Given the description of an element on the screen output the (x, y) to click on. 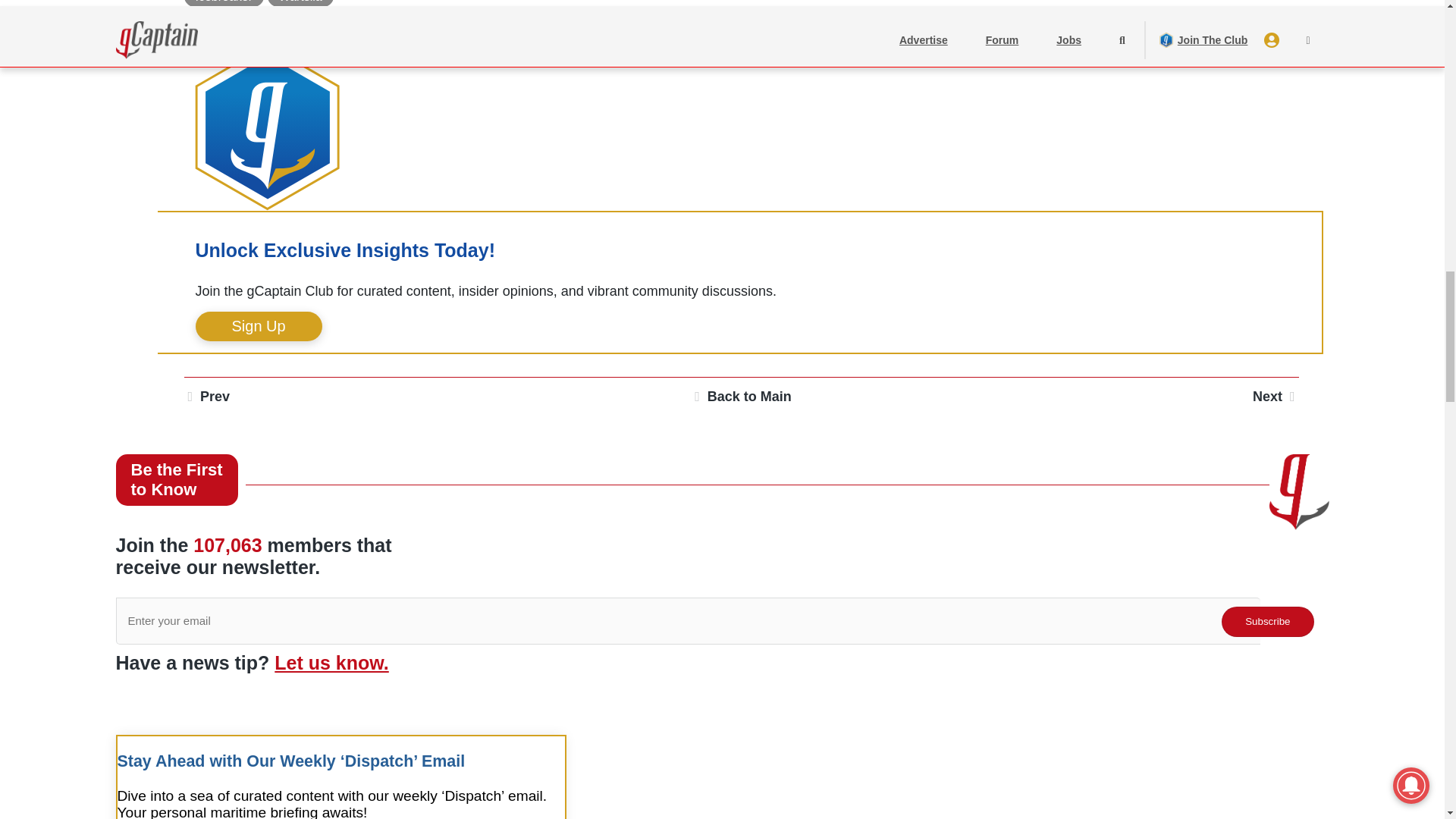
Prev (206, 396)
Let us know. (331, 662)
Back to Main (741, 396)
Icebreaker (223, 3)
Next (1275, 396)
Subscribe (1267, 621)
Subscribe (1267, 621)
Wartsila (300, 3)
Sign Up (258, 326)
